Given the description of an element on the screen output the (x, y) to click on. 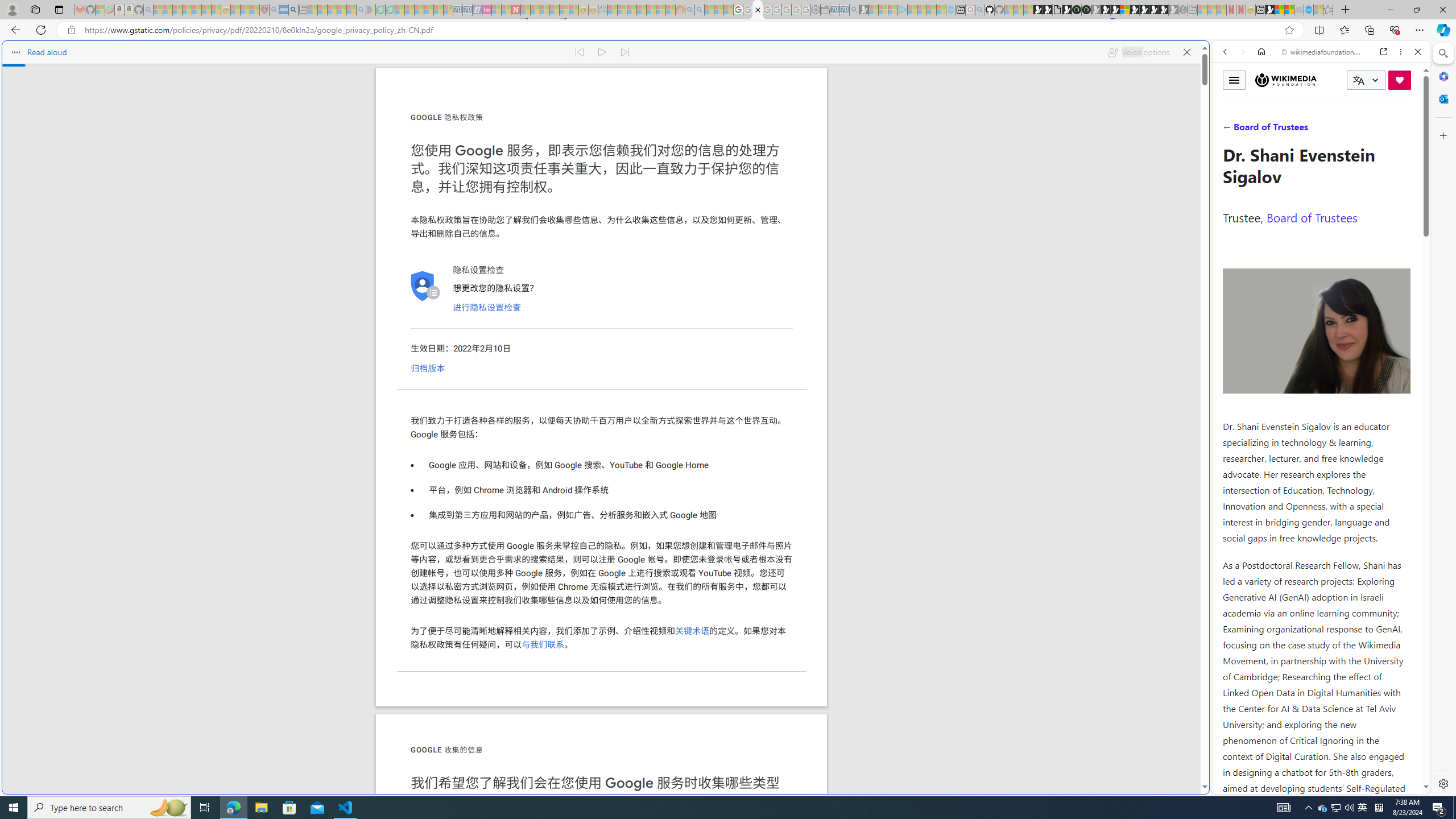
Services - Maintenance | Sky Blue Bikes - Sky Blue Bikes (1307, 9)
MSN (1269, 9)
Read next paragraph (624, 52)
Settings (1442, 783)
Expert Portfolios - Sleeping (640, 9)
utah sues federal government - Search (292, 9)
Search Filter, IMAGES (1262, 129)
